Given the description of an element on the screen output the (x, y) to click on. 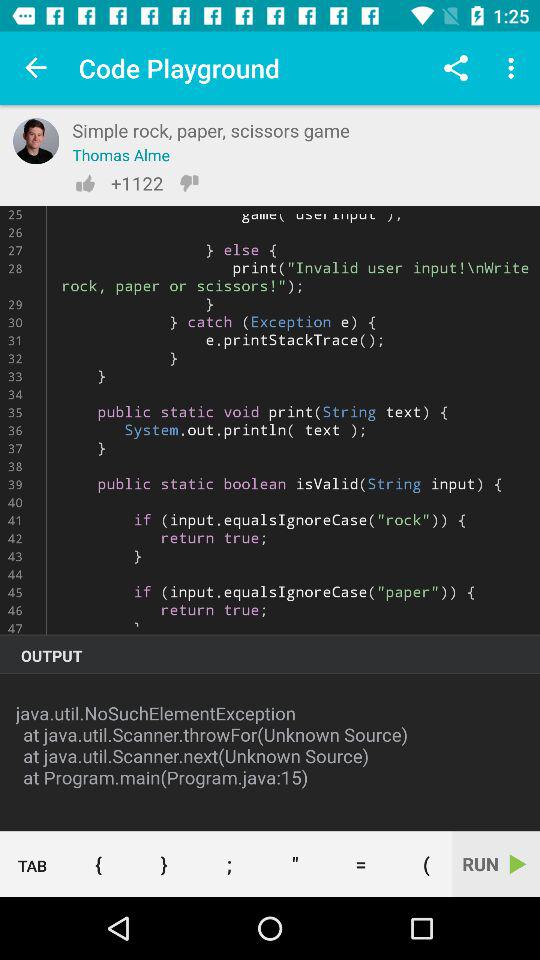
dislike option (189, 183)
